Given the description of an element on the screen output the (x, y) to click on. 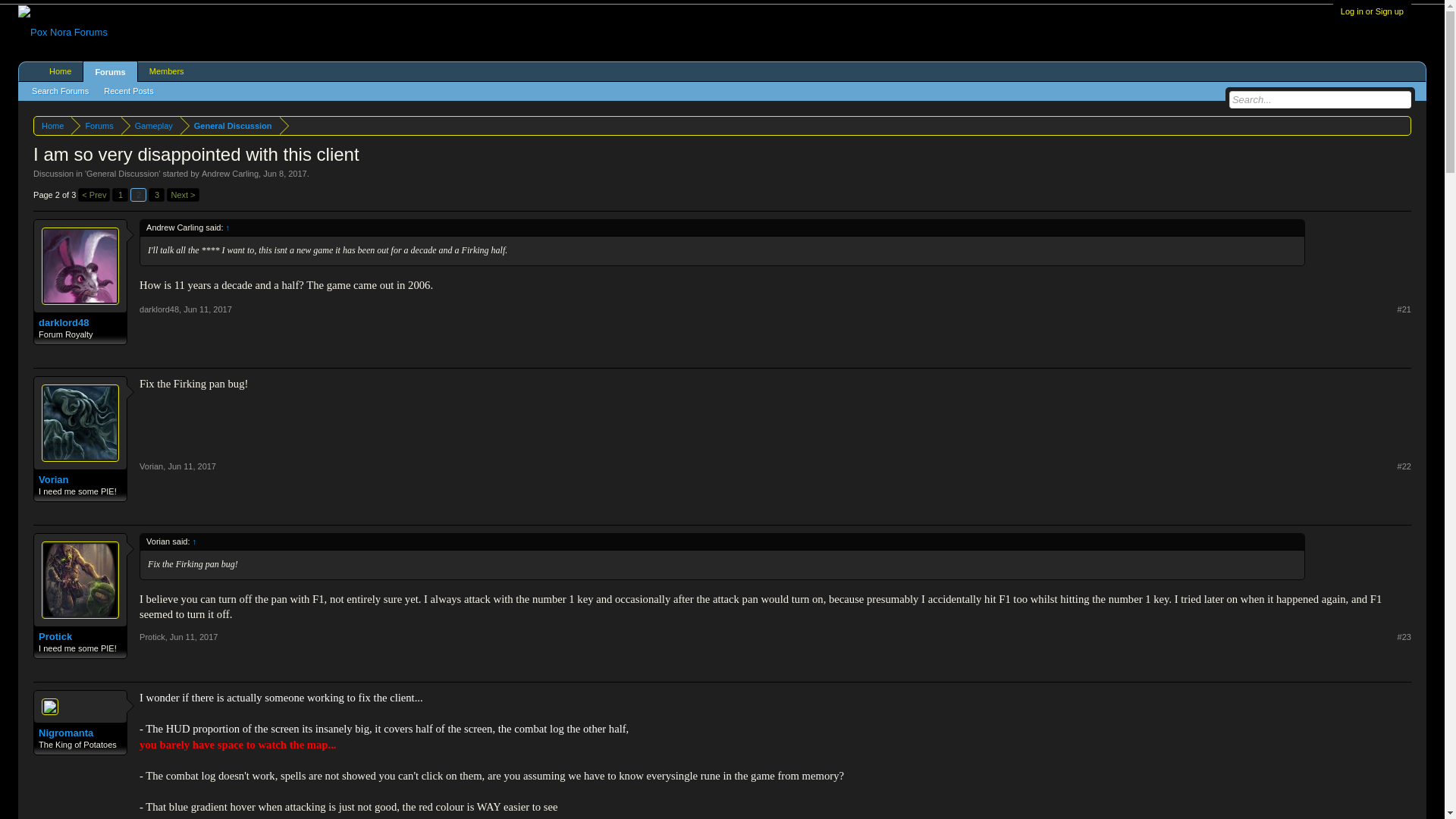
Permalink (1403, 308)
Home (52, 126)
darklord48 (159, 308)
Vorian (80, 480)
Jun 11, 2017 (191, 465)
Forums (95, 126)
Log in or Sign up (1371, 10)
Gameplay (150, 126)
3 (156, 194)
Jun 11, 2017 (207, 308)
Protick (152, 636)
Permalink (191, 465)
General Discussion (229, 126)
2 (139, 194)
Jun 8, 2017 (285, 173)
